Given the description of an element on the screen output the (x, y) to click on. 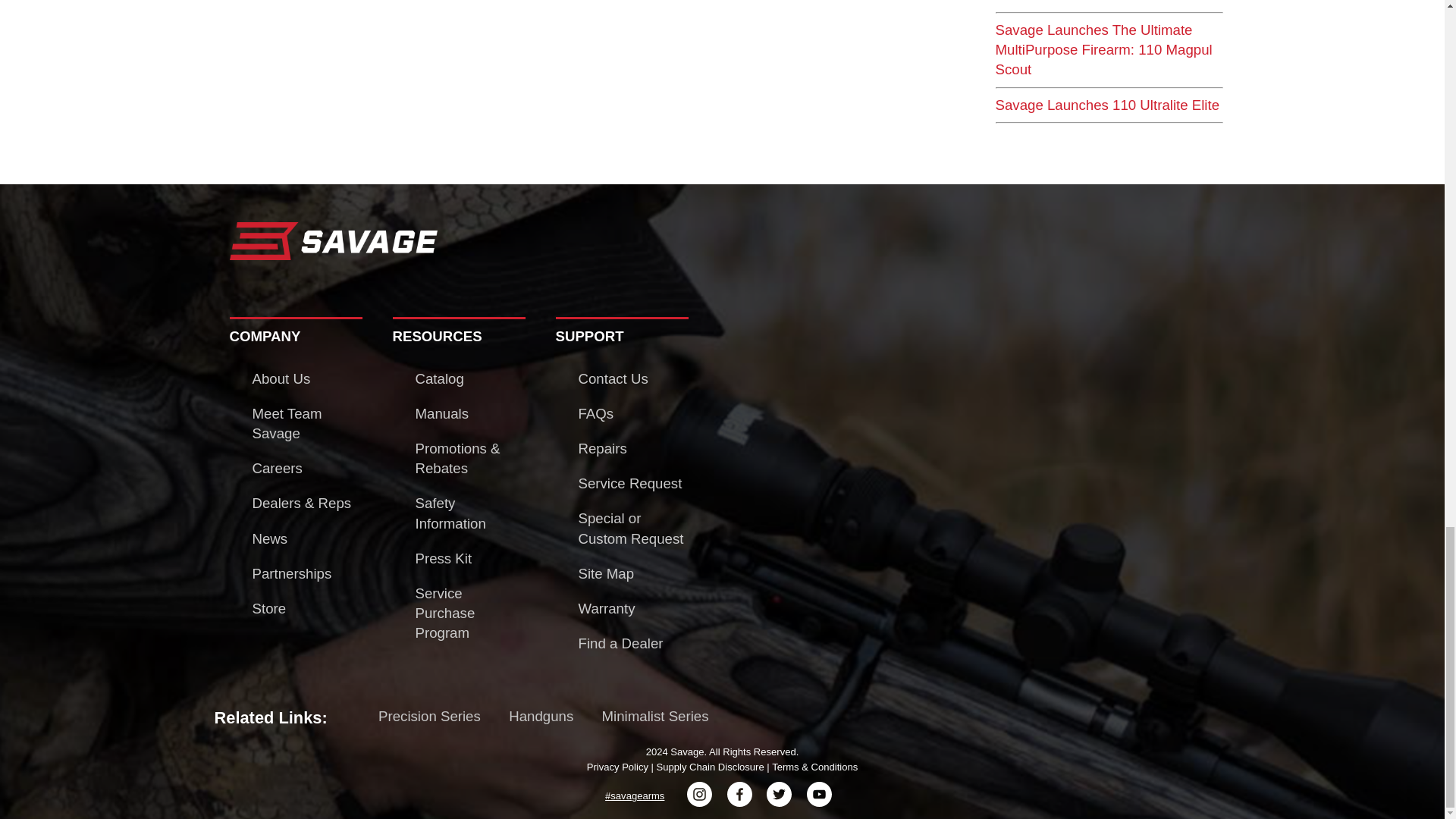
Savage Launches 110 Ultralite Elite (1107, 105)
Manuals (441, 413)
Meet Team Savage (286, 423)
Safety Information (450, 512)
About Us (280, 378)
Press Kit (442, 558)
Store (268, 608)
Partnerships (291, 573)
Careers (276, 467)
News (268, 538)
Catalog (439, 378)
